Given the description of an element on the screen output the (x, y) to click on. 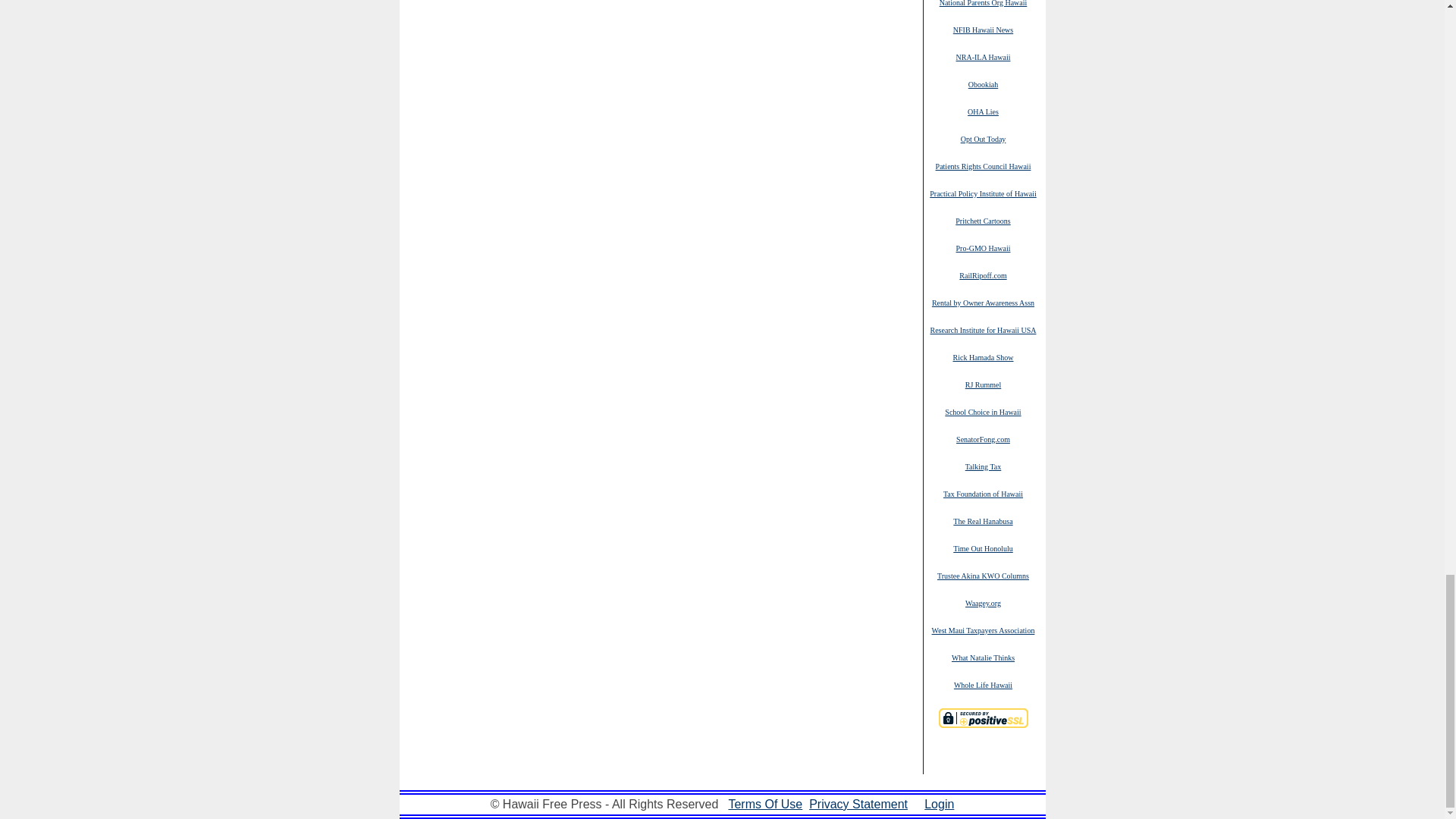
Login (938, 803)
